Given the description of an element on the screen output the (x, y) to click on. 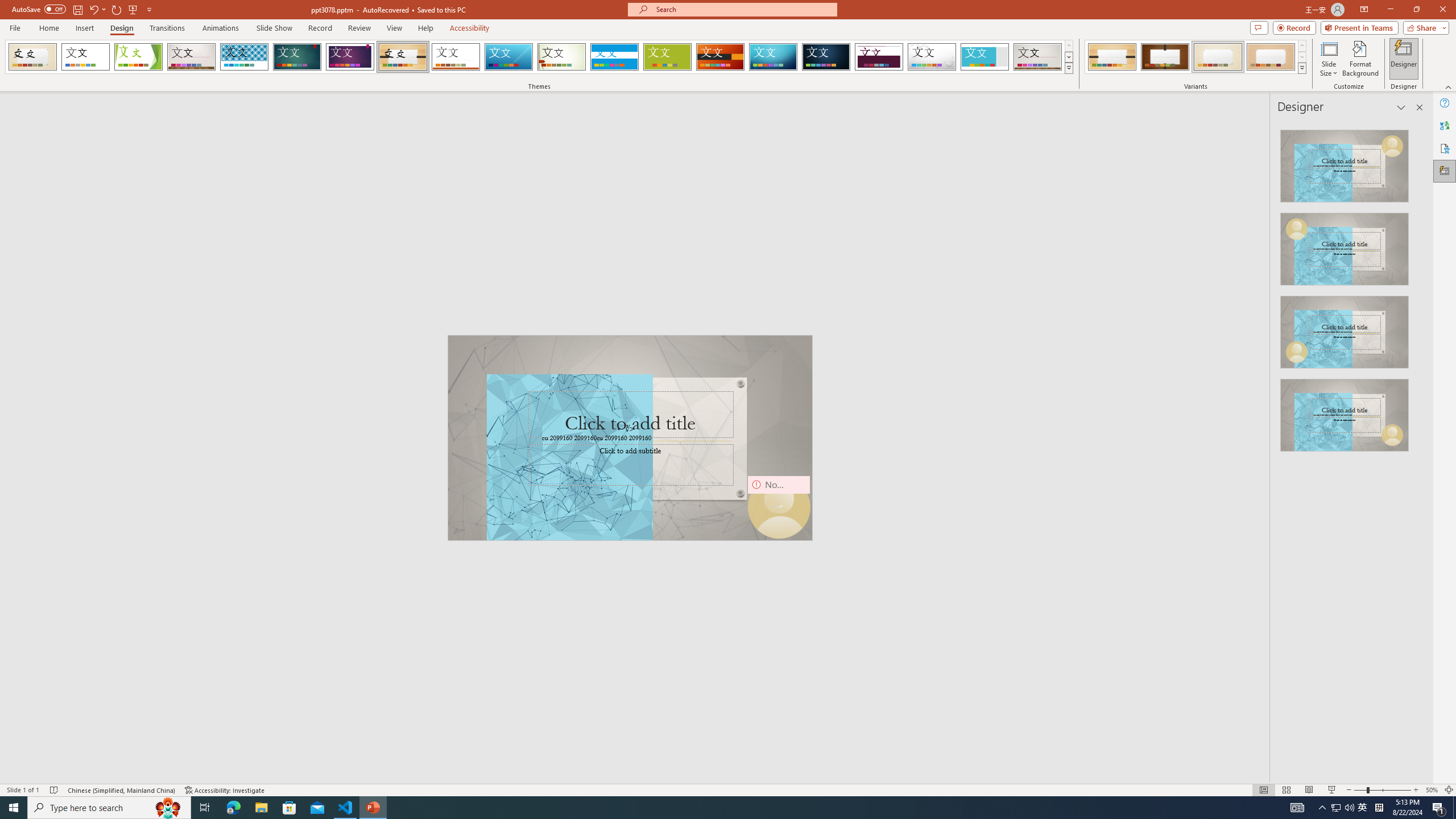
Gallery (1037, 56)
AutomationID: SlideThemesGallery (539, 56)
Circuit (772, 56)
An abstract genetic concept (630, 437)
Design Idea (1344, 411)
Organic Variant 4 (1270, 56)
TextBox 7 (626, 428)
